Given the description of an element on the screen output the (x, y) to click on. 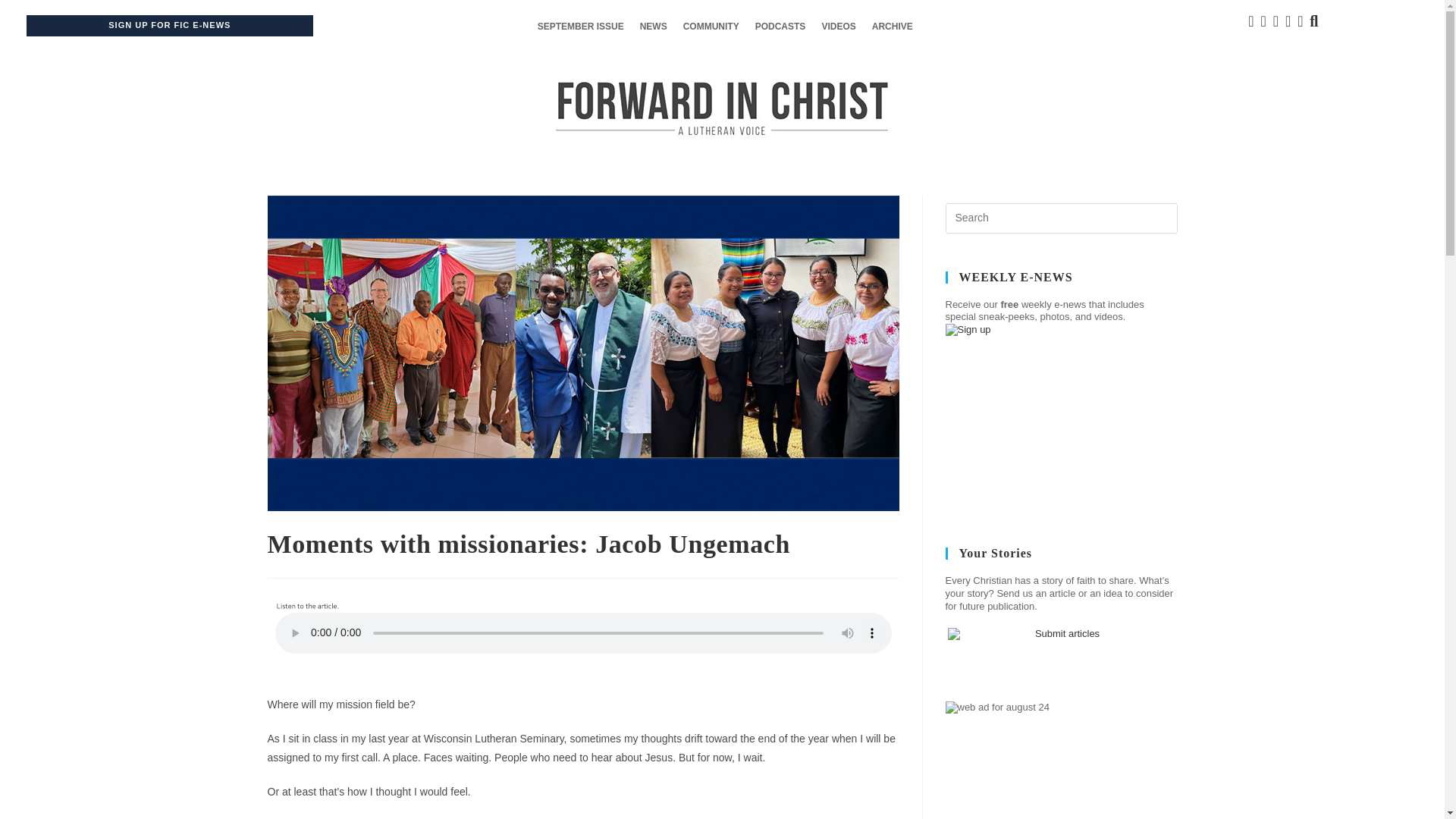
SIGN UP FOR FIC E-NEWS (168, 25)
SUBSCRIBE (559, 516)
SEPTEMBER ISSUE (580, 27)
VIDEOS (838, 27)
NEWS (653, 27)
PODCASTS (780, 27)
COMMUNITY (710, 27)
ficWebLogo (721, 107)
ARCHIVE (892, 27)
